Given the description of an element on the screen output the (x, y) to click on. 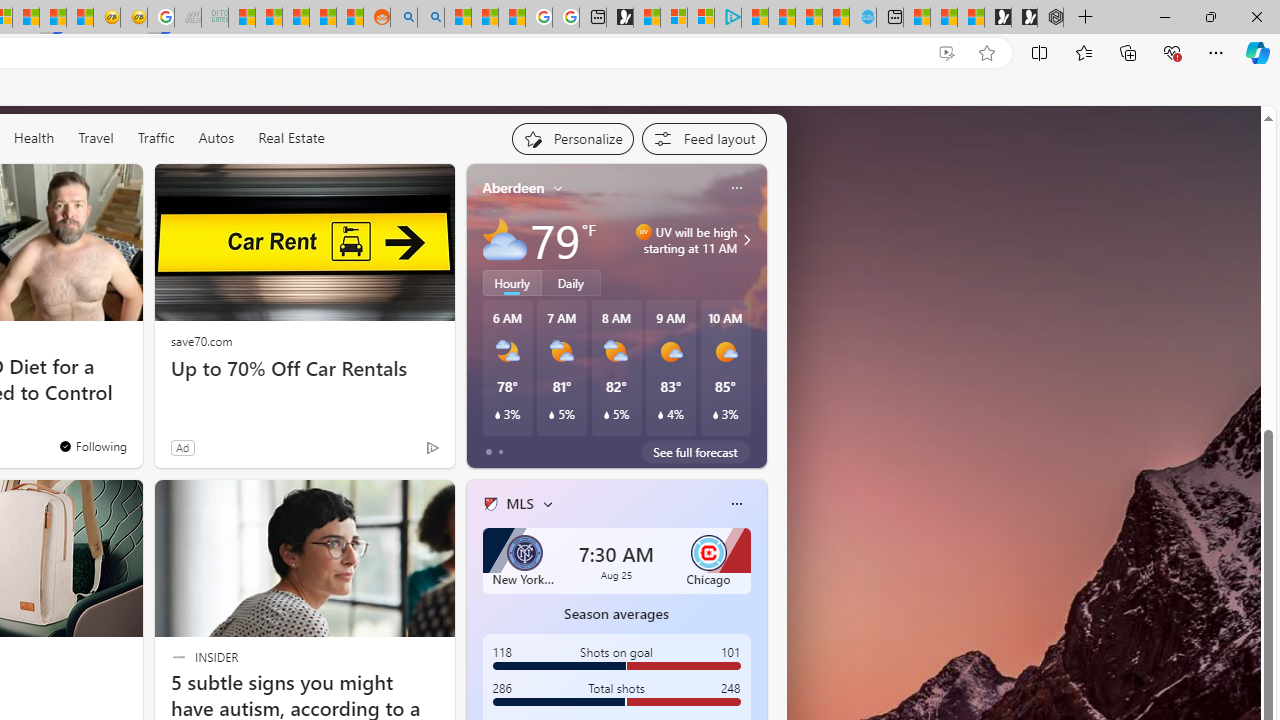
More interests (547, 503)
Daily (571, 282)
New York City 7:30 AM Aug 25 Chicago (616, 560)
You're following Newsweek (92, 445)
Aberdeen (513, 188)
